Given the description of an element on the screen output the (x, y) to click on. 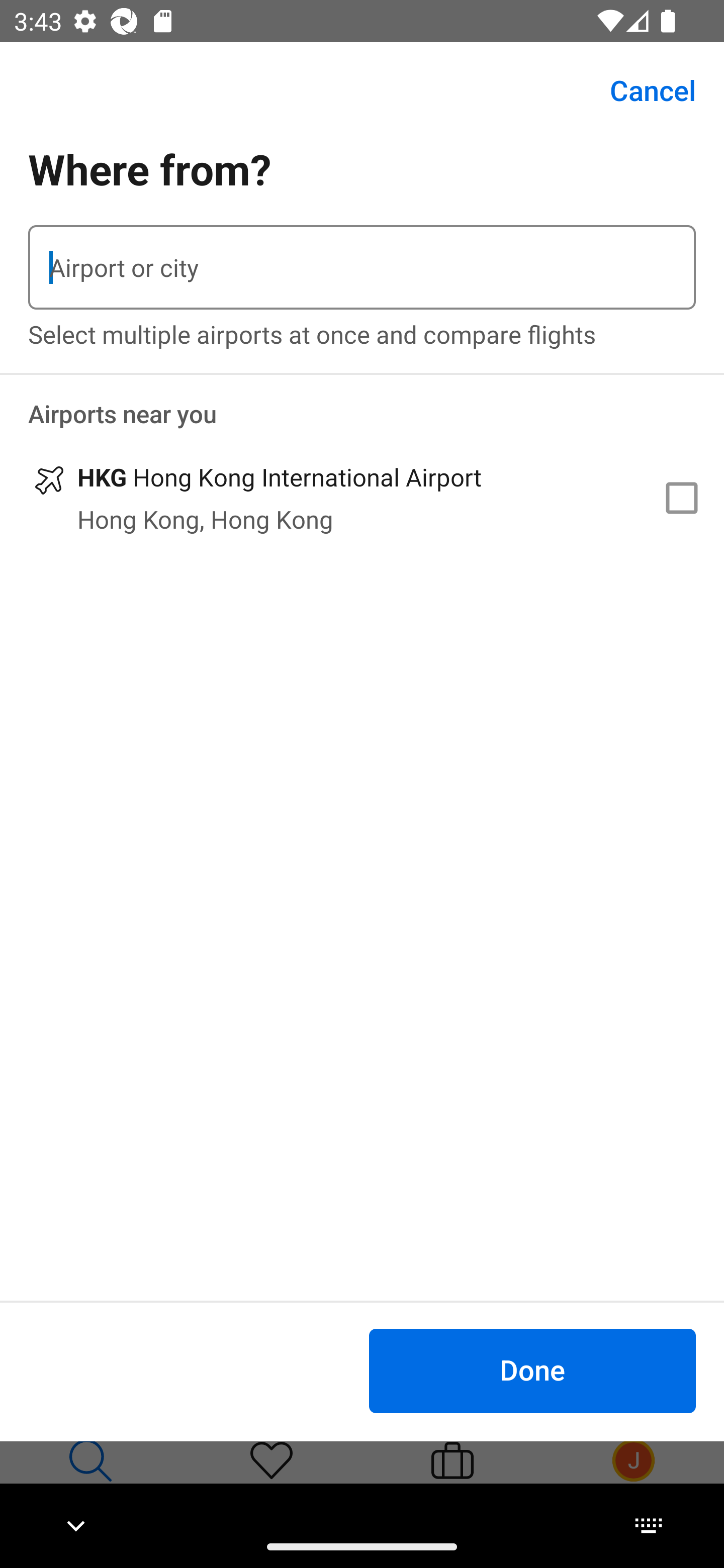
Cancel (641, 90)
Airport or city (361, 266)
Done (532, 1370)
